Given the description of an element on the screen output the (x, y) to click on. 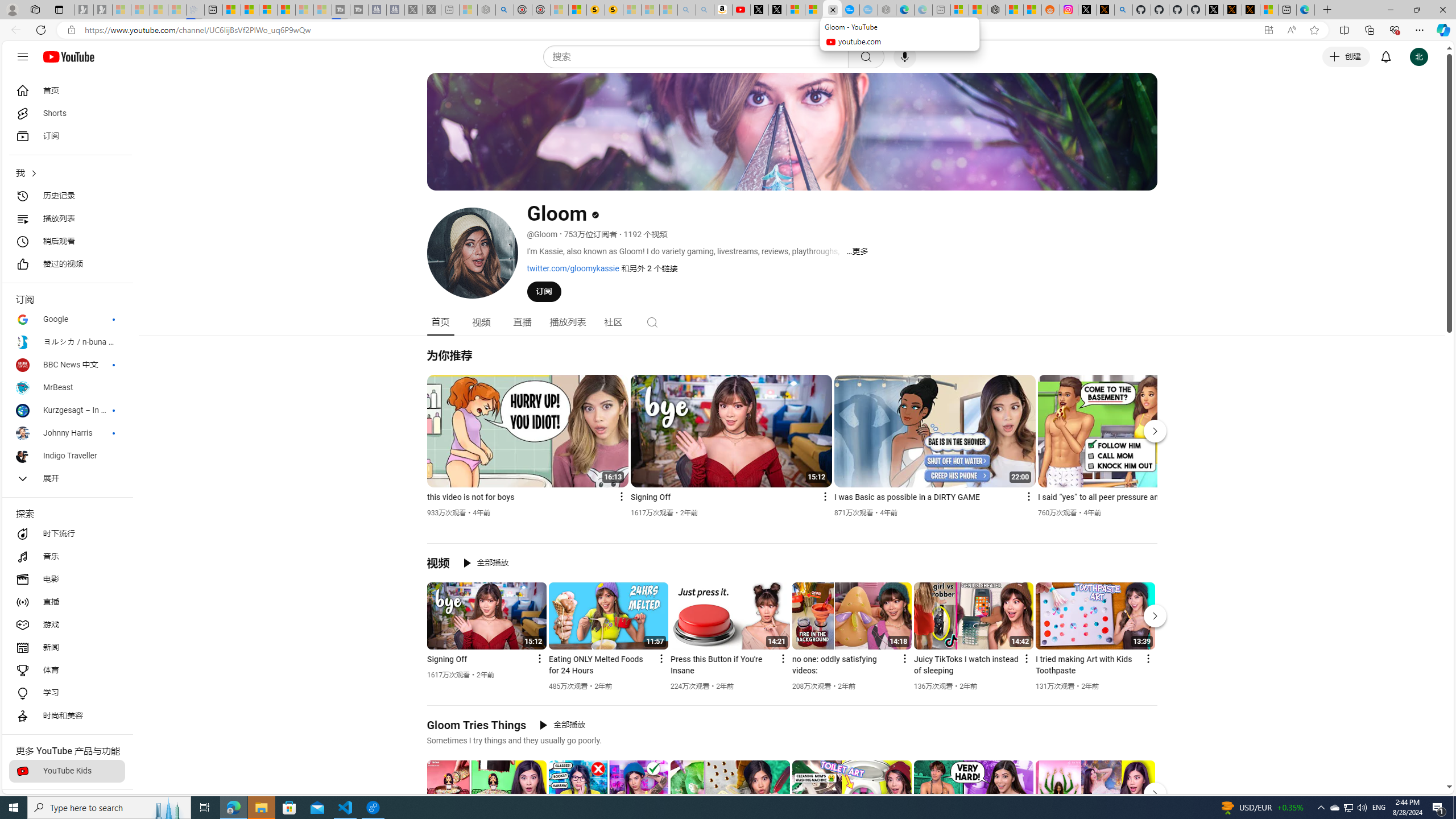
Workspaces (34, 9)
Wildlife - MSN - Sleeping (467, 9)
New tab (1287, 9)
Add this page to favorites (Ctrl+D) (1314, 29)
X Privacy Policy (1251, 9)
Shorts (66, 113)
Browser essentials (1394, 29)
Split screen (1344, 29)
